Given the description of an element on the screen output the (x, y) to click on. 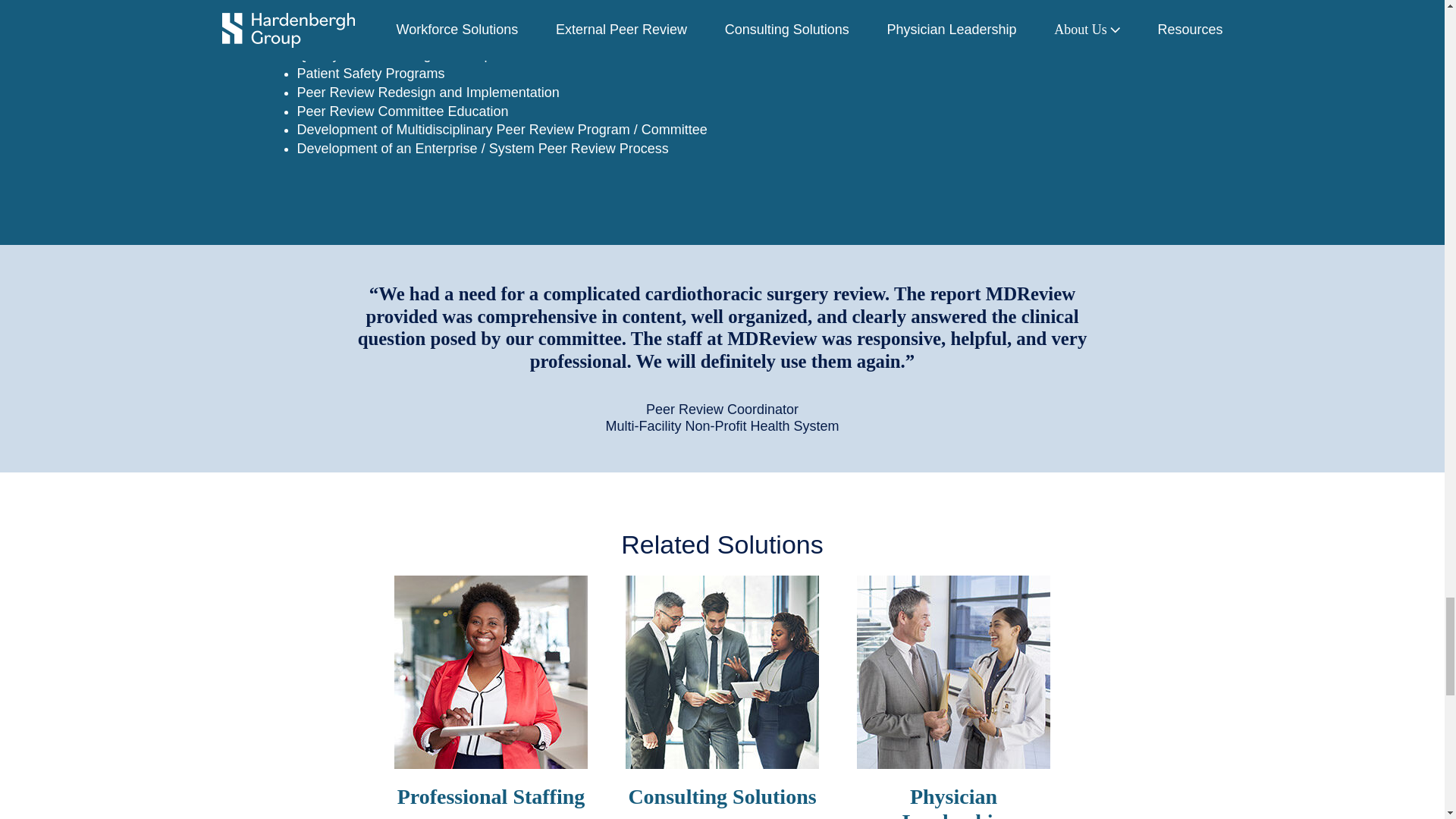
Consulting Solutions (721, 796)
Physician Leadership (953, 801)
Professional Staffing (491, 796)
